Given the description of an element on the screen output the (x, y) to click on. 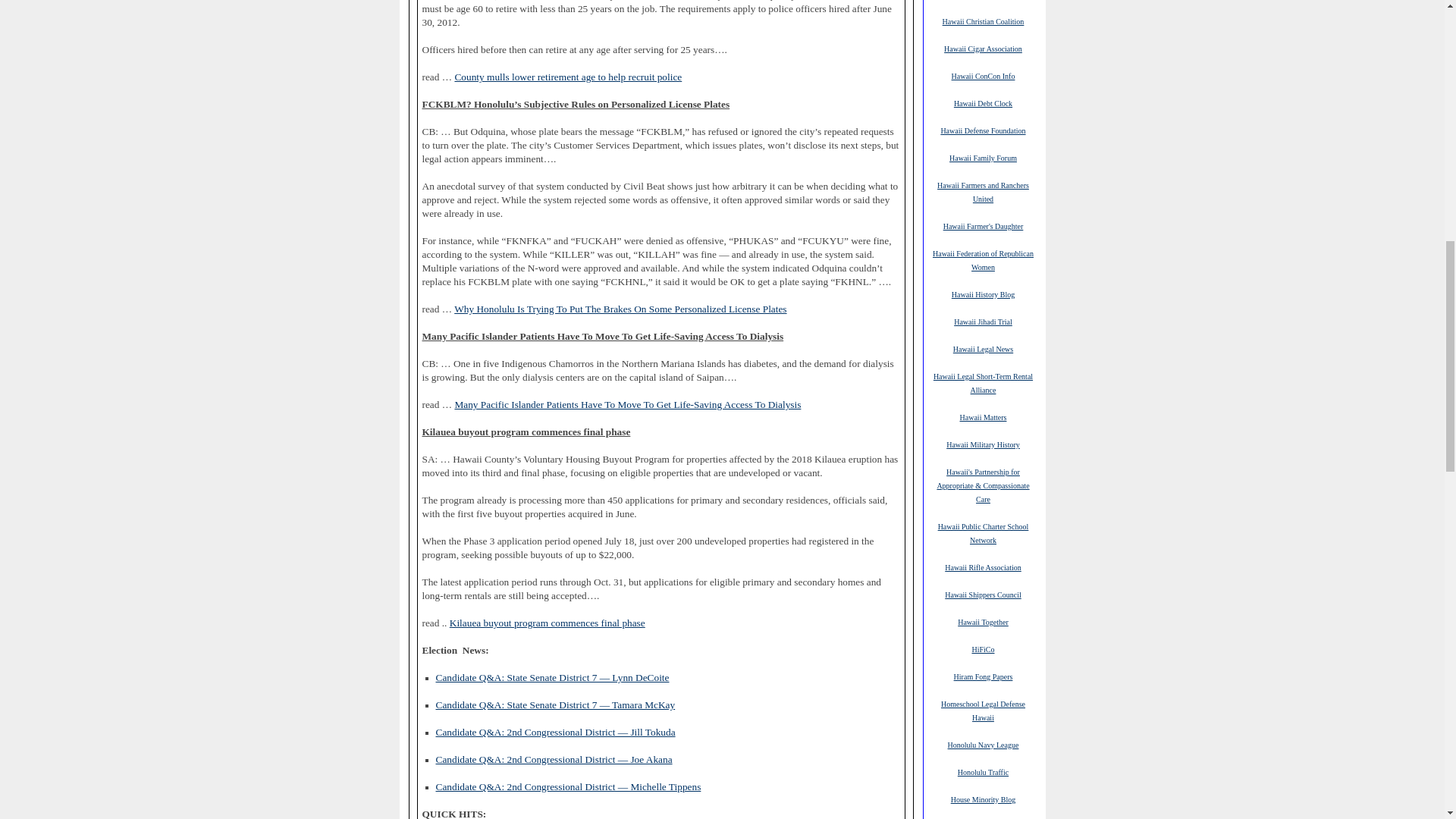
County mulls lower retirement age to help recruit police (567, 76)
Kilauea buyout program commences final phase (547, 622)
